Given the description of an element on the screen output the (x, y) to click on. 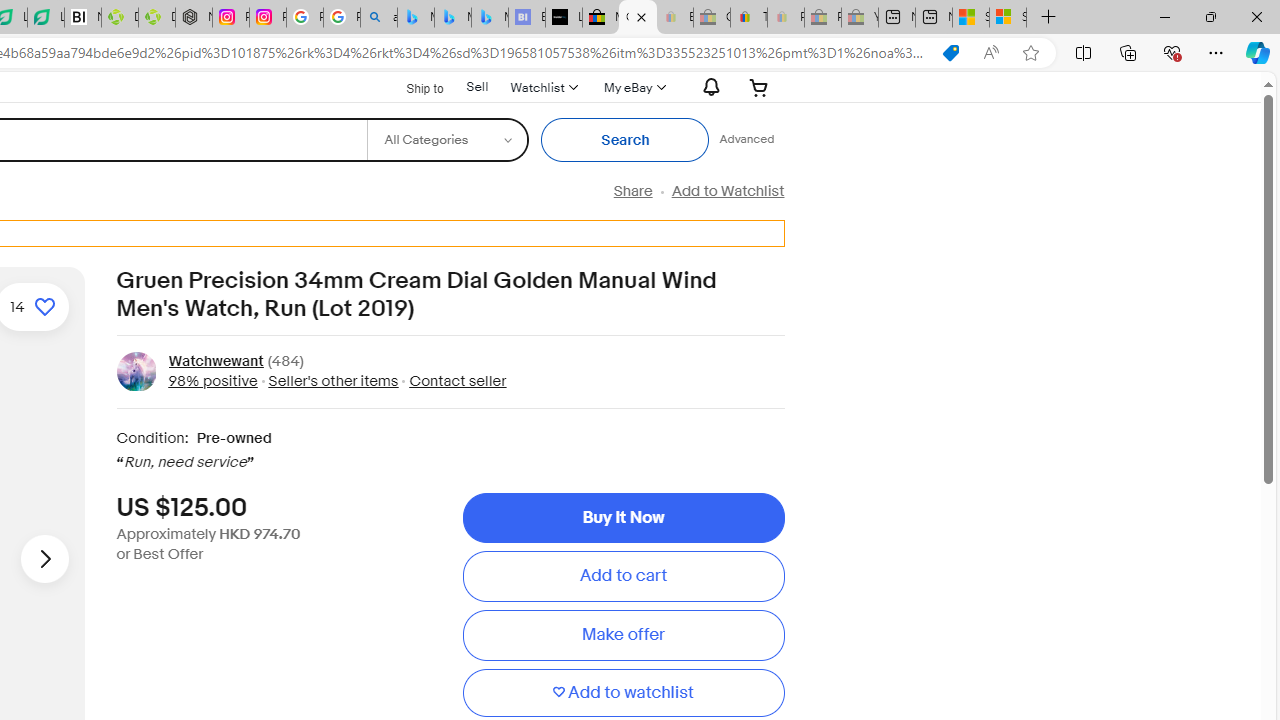
Add to watchlist (623, 692)
Nvidia va a poner a prueba la paciencia de los inversores (83, 17)
Make offer (623, 635)
  Seller's other items (328, 380)
Advanced Search (746, 139)
Threats and offensive language policy | eBay (748, 17)
AutomationID: gh-eb-Alerts (708, 87)
Payments Terms of Use | eBay.com - Sleeping (785, 17)
You have the best price! Shopping in Microsoft Edge (950, 53)
